Given the description of an element on the screen output the (x, y) to click on. 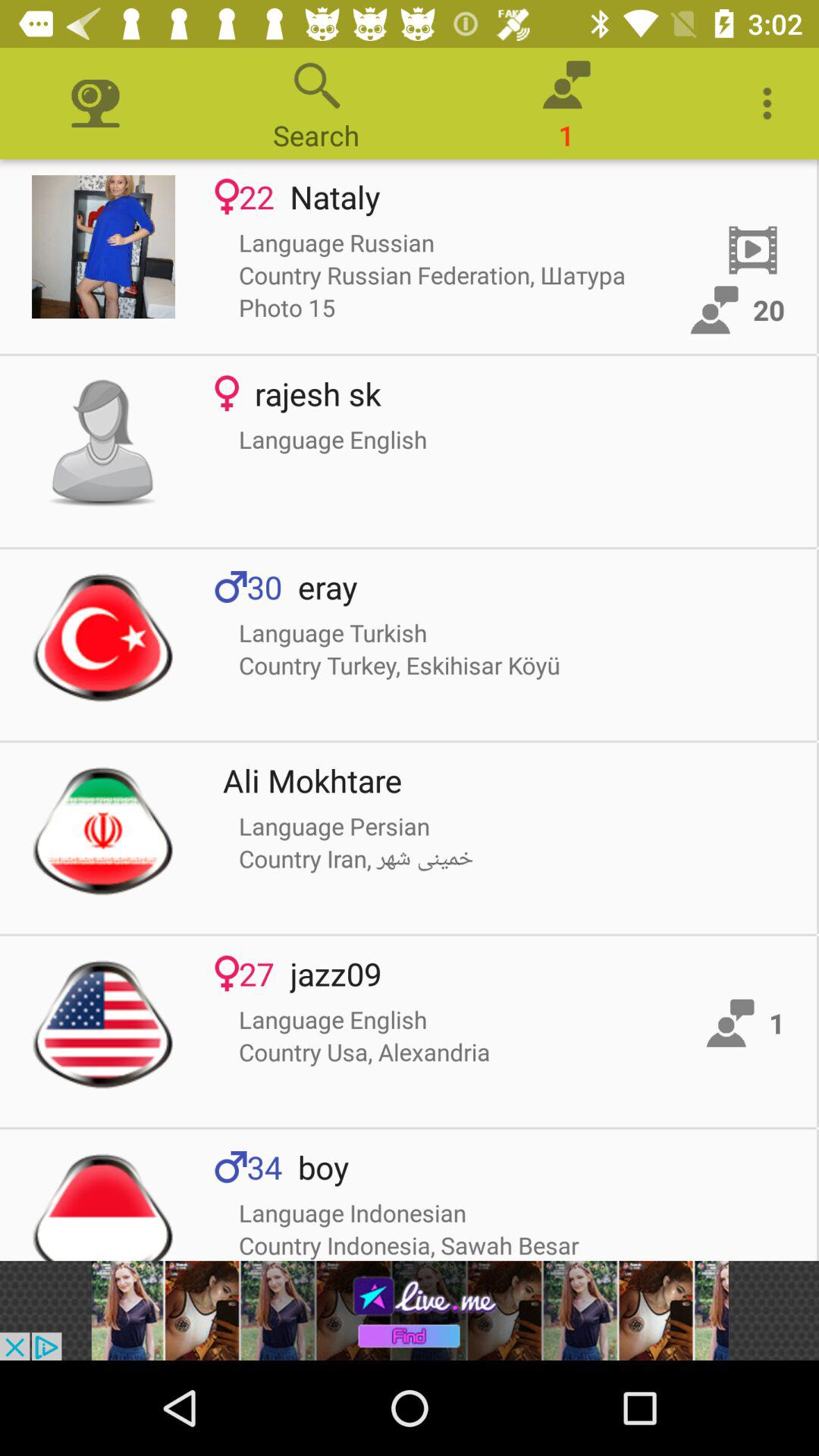
profile picture (103, 830)
